Given the description of an element on the screen output the (x, y) to click on. 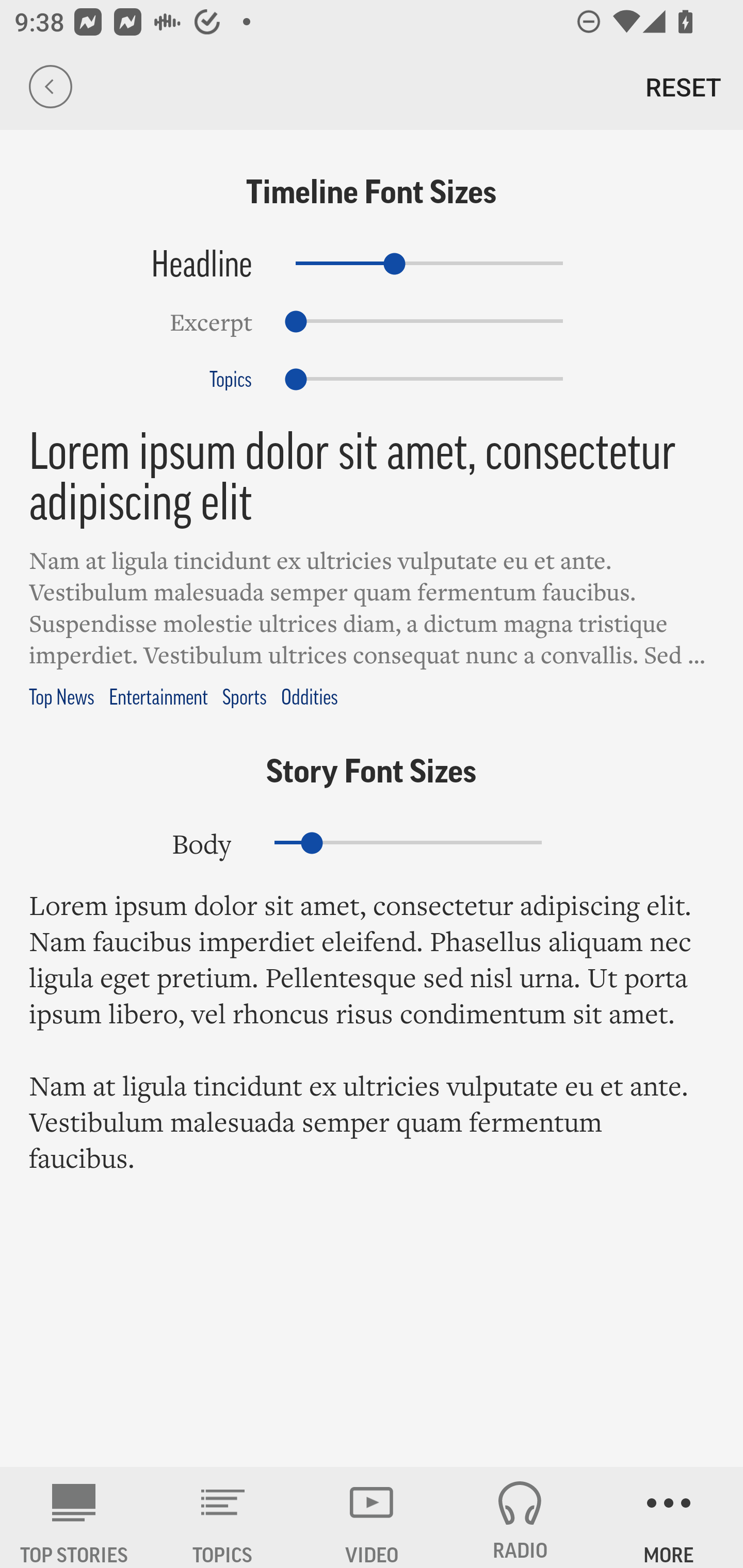
RESET (683, 86)
AP News TOP STORIES (74, 1517)
TOPICS (222, 1517)
VIDEO (371, 1517)
RADIO (519, 1517)
MORE (668, 1517)
